Given the description of an element on the screen output the (x, y) to click on. 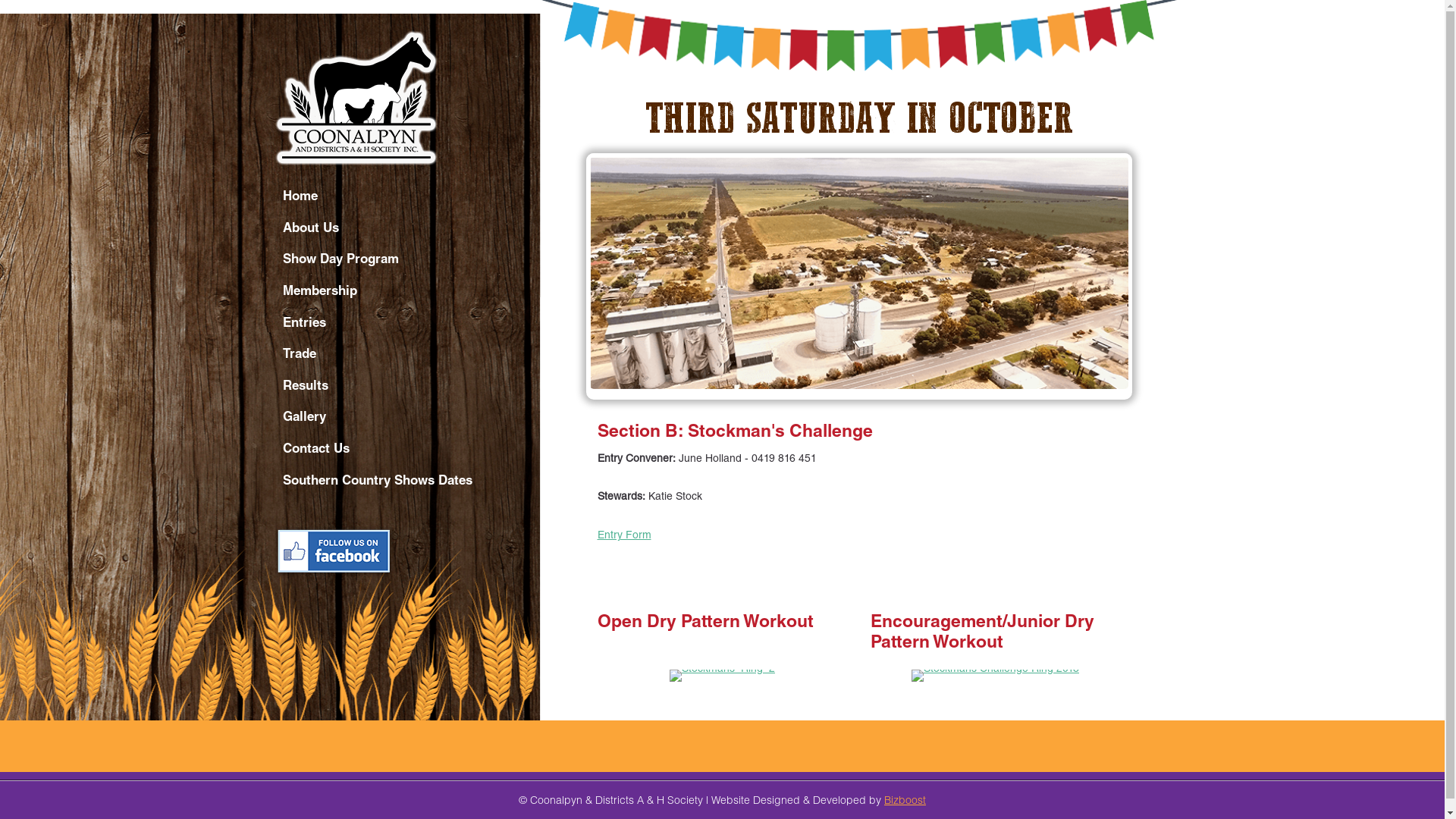
Results Element type: text (406, 387)
Entry Form Element type: text (624, 535)
Gallery Element type: text (406, 418)
Southern Country Shows Dates Element type: text (406, 482)
Contact Us Element type: text (406, 450)
Stockmans_Ring_2 Element type: hover (722, 675)
Bizboost Element type: text (904, 799)
Show Day Program Element type: text (406, 260)
Home Element type: text (406, 197)
Membership Element type: text (406, 292)
Entries Element type: text (406, 323)
Stockmans Challenge Ring 2018 Element type: hover (995, 675)
About Us Element type: text (406, 229)
Trade Element type: text (406, 355)
